Given the description of an element on the screen output the (x, y) to click on. 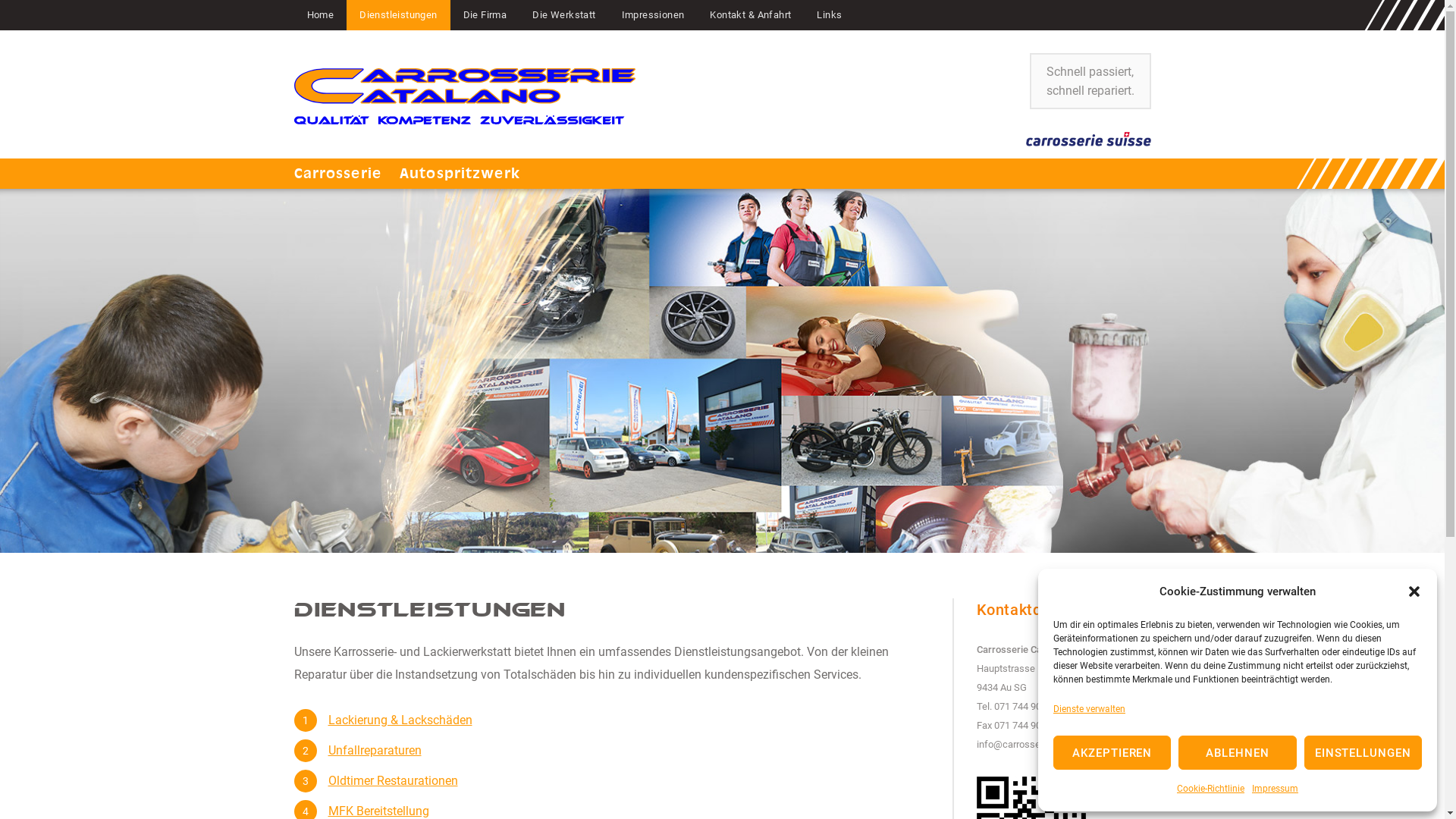
Kontakt & Anfahrt Element type: text (749, 15)
EINSTELLUNGEN Element type: text (1362, 752)
Die Werkstatt Element type: text (563, 15)
Die Firma Element type: text (485, 15)
Impressum Element type: text (1275, 788)
Unfallreparaturen Element type: text (373, 750)
ABLEHNEN Element type: text (1236, 752)
Links Element type: text (828, 15)
Cookie-Richtlinie Element type: text (1210, 788)
MFK Bereitstellung Element type: text (377, 810)
Dienste verwalten Element type: text (1089, 708)
Impressionen Element type: text (652, 15)
Dienstleistungen Element type: text (398, 15)
Schnell passiert,
schnell repariert. Element type: text (1090, 81)
Home Element type: text (320, 15)
AKZEPTIEREN Element type: text (1111, 752)
Oldtimer Restaurationen Element type: text (392, 780)
Carrosserie Catalano Home Element type: hover (464, 96)
